Given the description of an element on the screen output the (x, y) to click on. 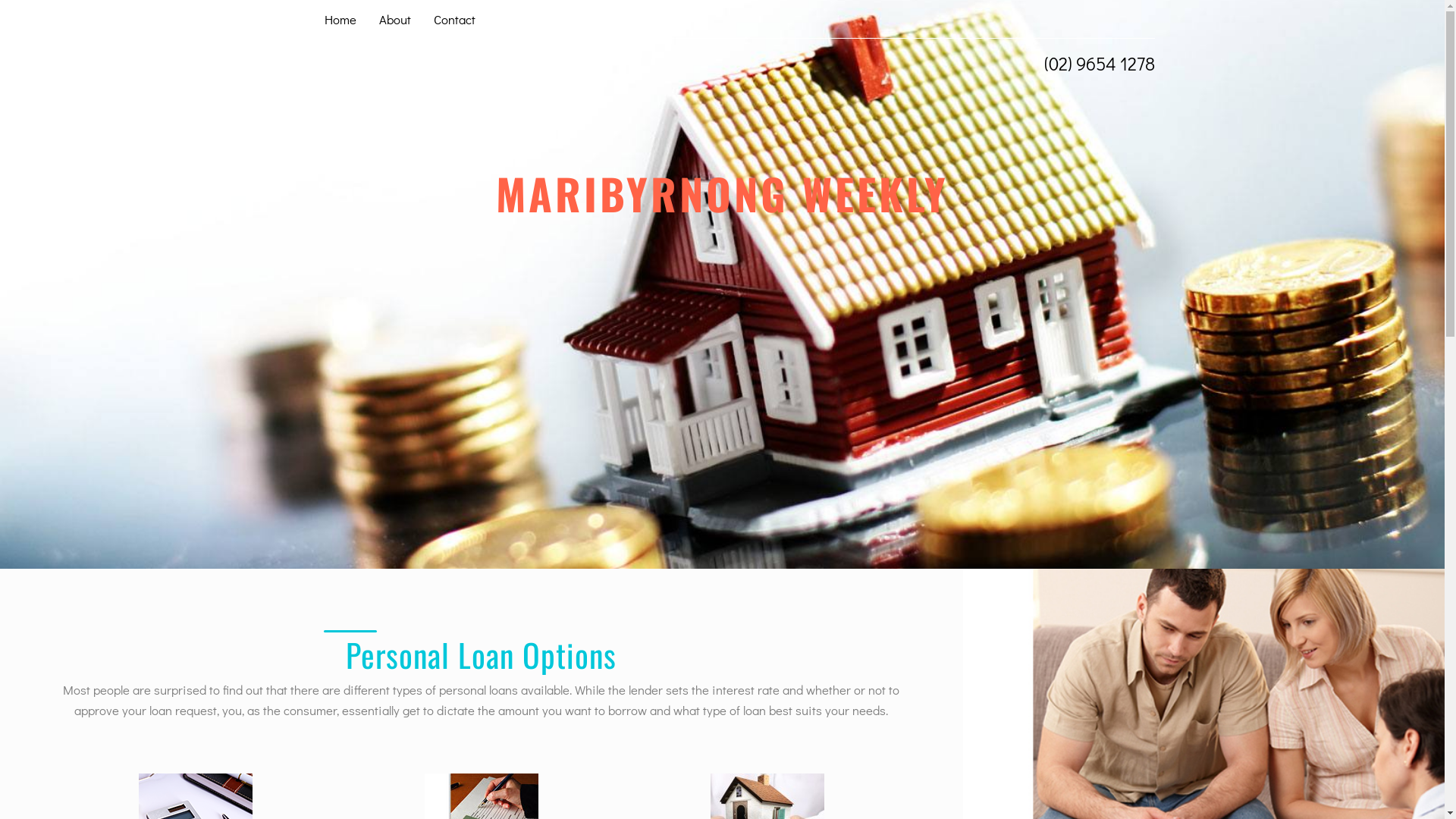
MARIBYRNONG WEEKLY Element type: text (721, 207)
About Element type: text (394, 18)
Contact Element type: text (453, 18)
Home Element type: text (339, 18)
